Given the description of an element on the screen output the (x, y) to click on. 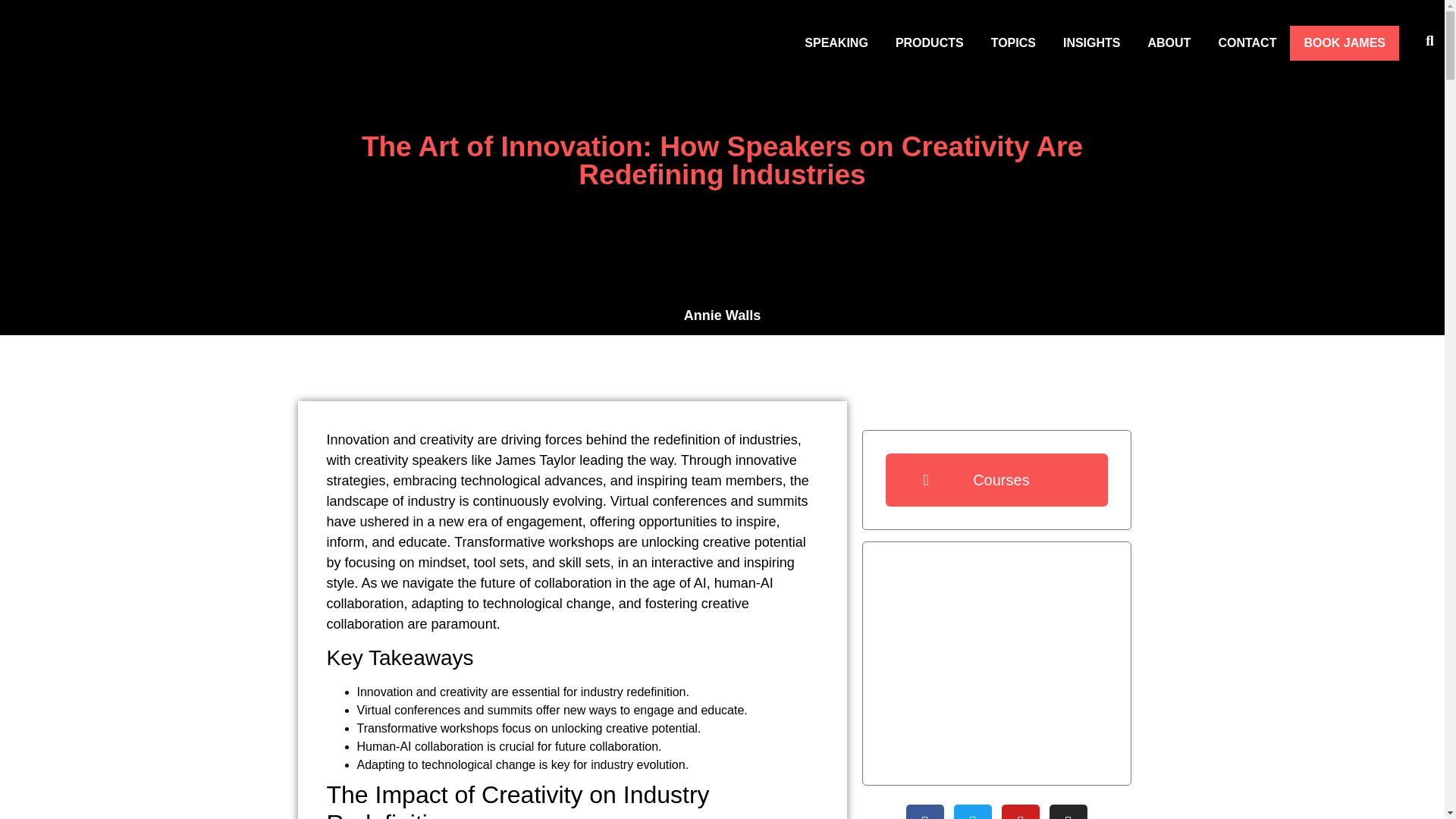
ABOUT (1169, 42)
INSIGHTS (1091, 42)
BOOK JAMES (1344, 42)
CONTACT (1247, 42)
PRODUCTS (929, 42)
TOPICS (1012, 42)
SPEAKING (836, 42)
